Given the description of an element on the screen output the (x, y) to click on. 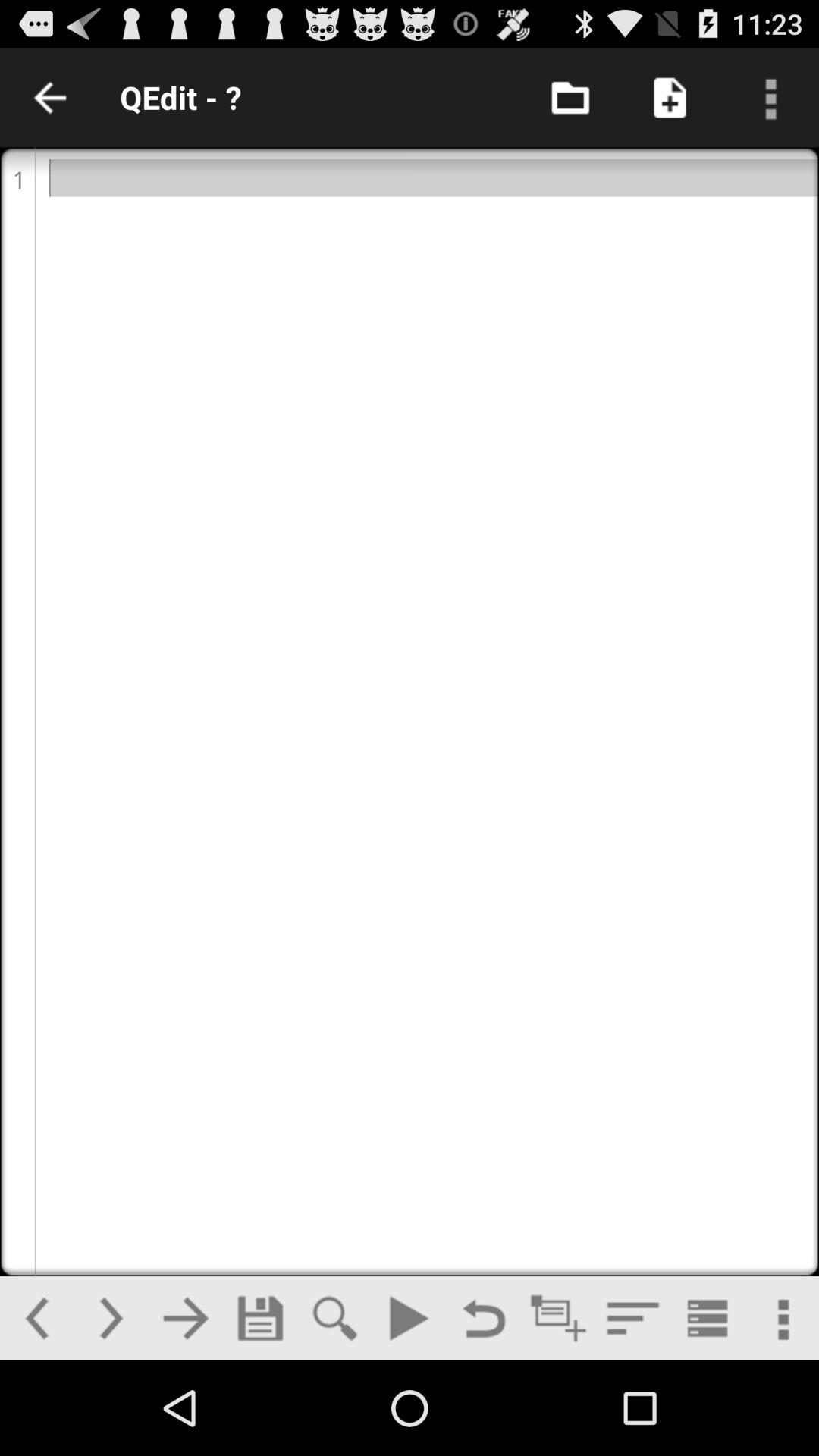
run the script (408, 1318)
